Given the description of an element on the screen output the (x, y) to click on. 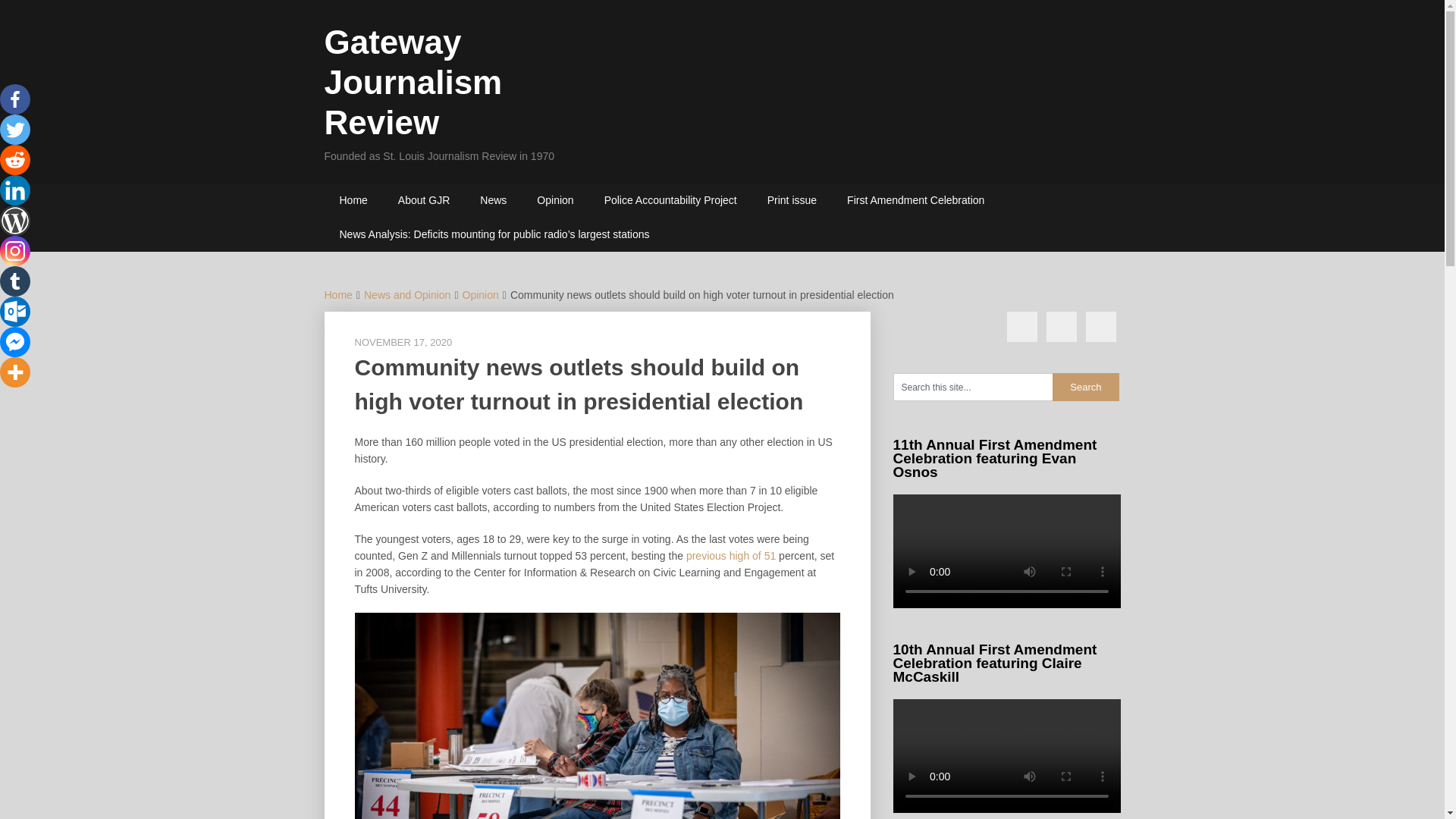
Opinion (481, 295)
Home (353, 200)
Search (1085, 387)
About GJR (423, 200)
Print issue (791, 200)
previous high of 51 (730, 555)
News and Opinion (406, 295)
Home (338, 295)
Opinion (554, 200)
Gateway Journalism Review (413, 81)
Police Accountability Project (670, 200)
Search this site... (972, 387)
Facebook (15, 99)
First Amendment Celebration (914, 200)
